Given the description of an element on the screen output the (x, y) to click on. 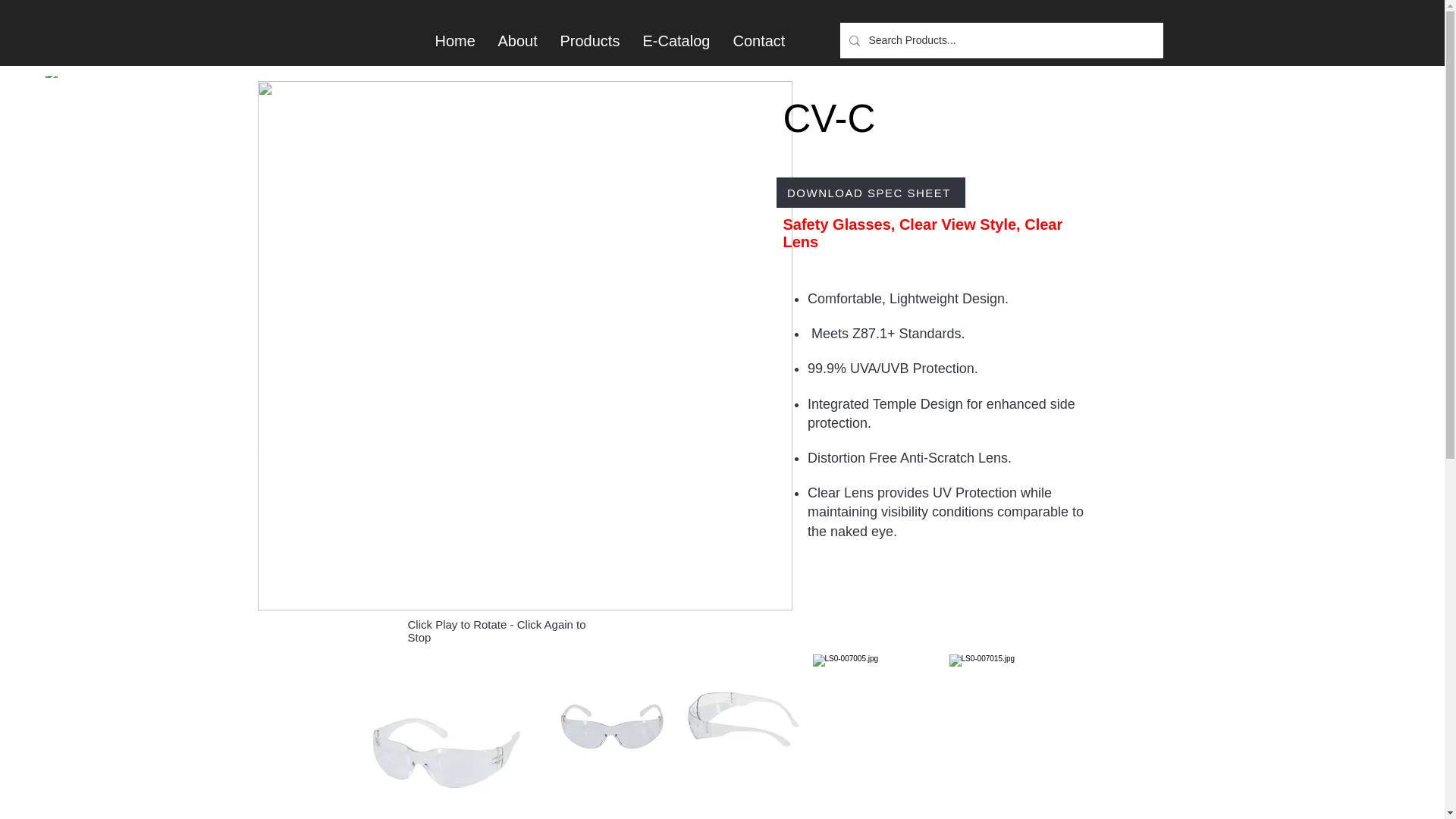
E-Catalog (675, 40)
CV-C05.jpg (744, 722)
Products (589, 40)
CV-C18.jpg (608, 722)
Home (454, 40)
DOWNLOAD SPEC SHEET (870, 192)
CV-C05.jpg (1017, 722)
Contact (759, 40)
About (517, 40)
CV-C10.jpg (880, 722)
CV-C19.jpg (444, 736)
